Given the description of an element on the screen output the (x, y) to click on. 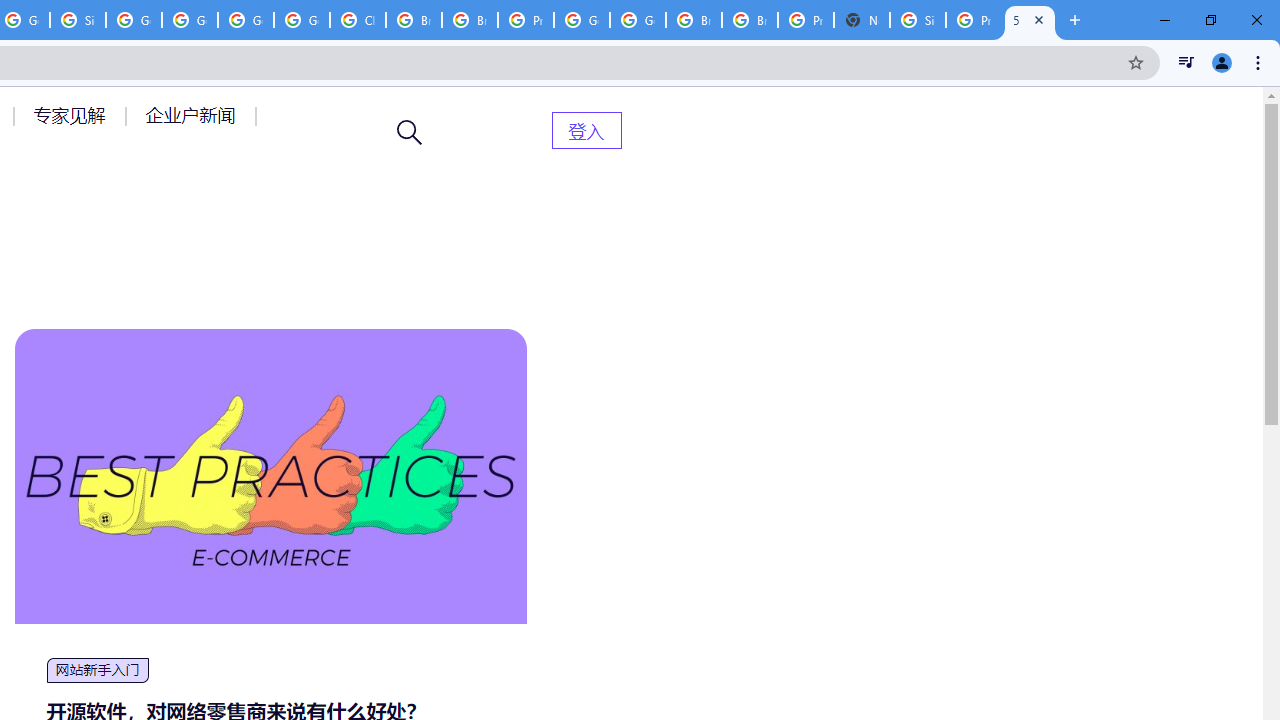
AutomationID: menu-item-77764 (72, 115)
Browse Chrome as a guest - Computer - Google Chrome Help (749, 20)
Google Cloud Platform (245, 20)
Browse Chrome as a guest - Computer - Google Chrome Help (413, 20)
Browse Chrome as a guest - Computer - Google Chrome Help (693, 20)
